Given the description of an element on the screen output the (x, y) to click on. 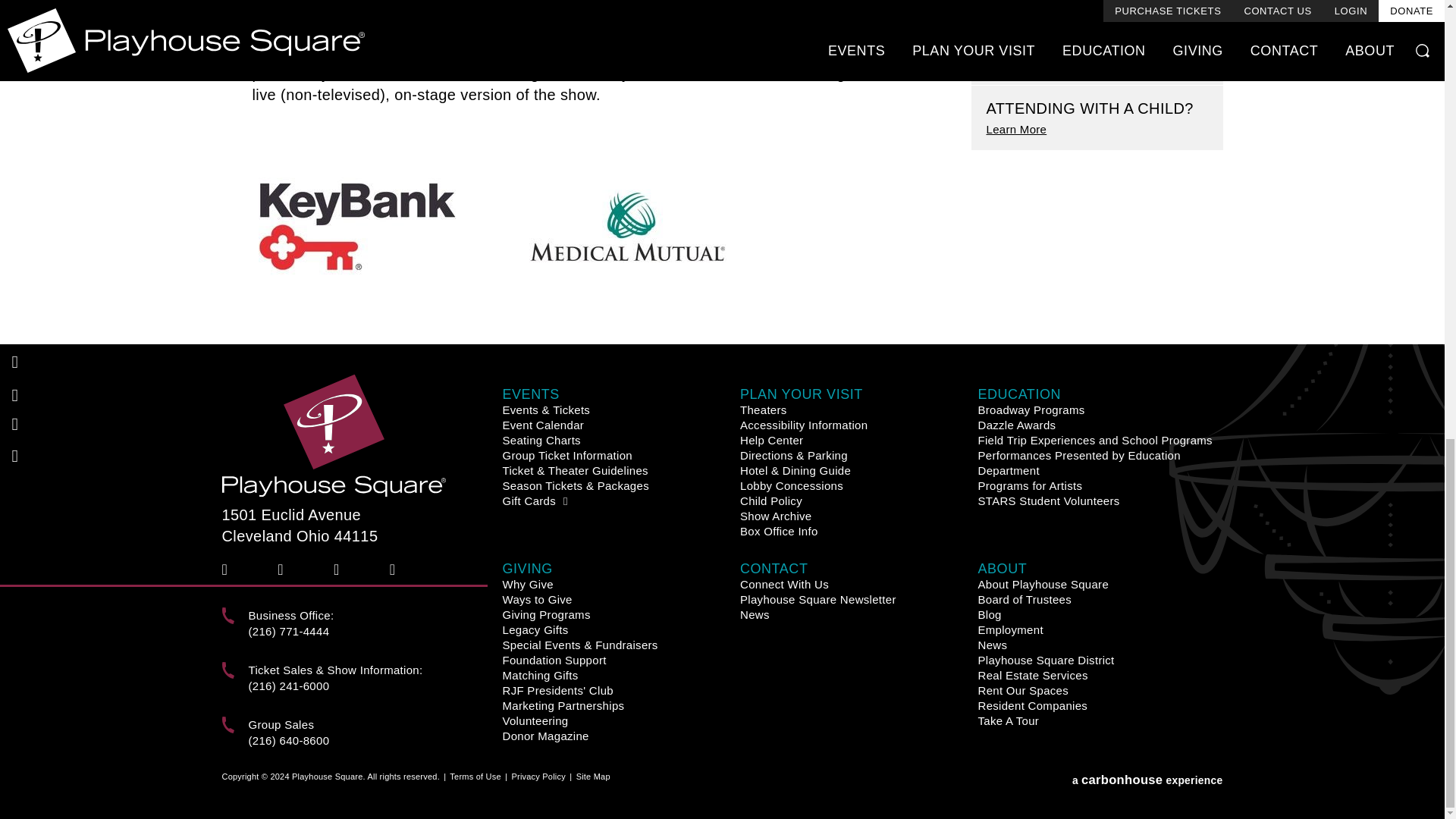
Directions (361, 526)
Twitter (285, 569)
Playhouse Square (333, 435)
